Given the description of an element on the screen output the (x, y) to click on. 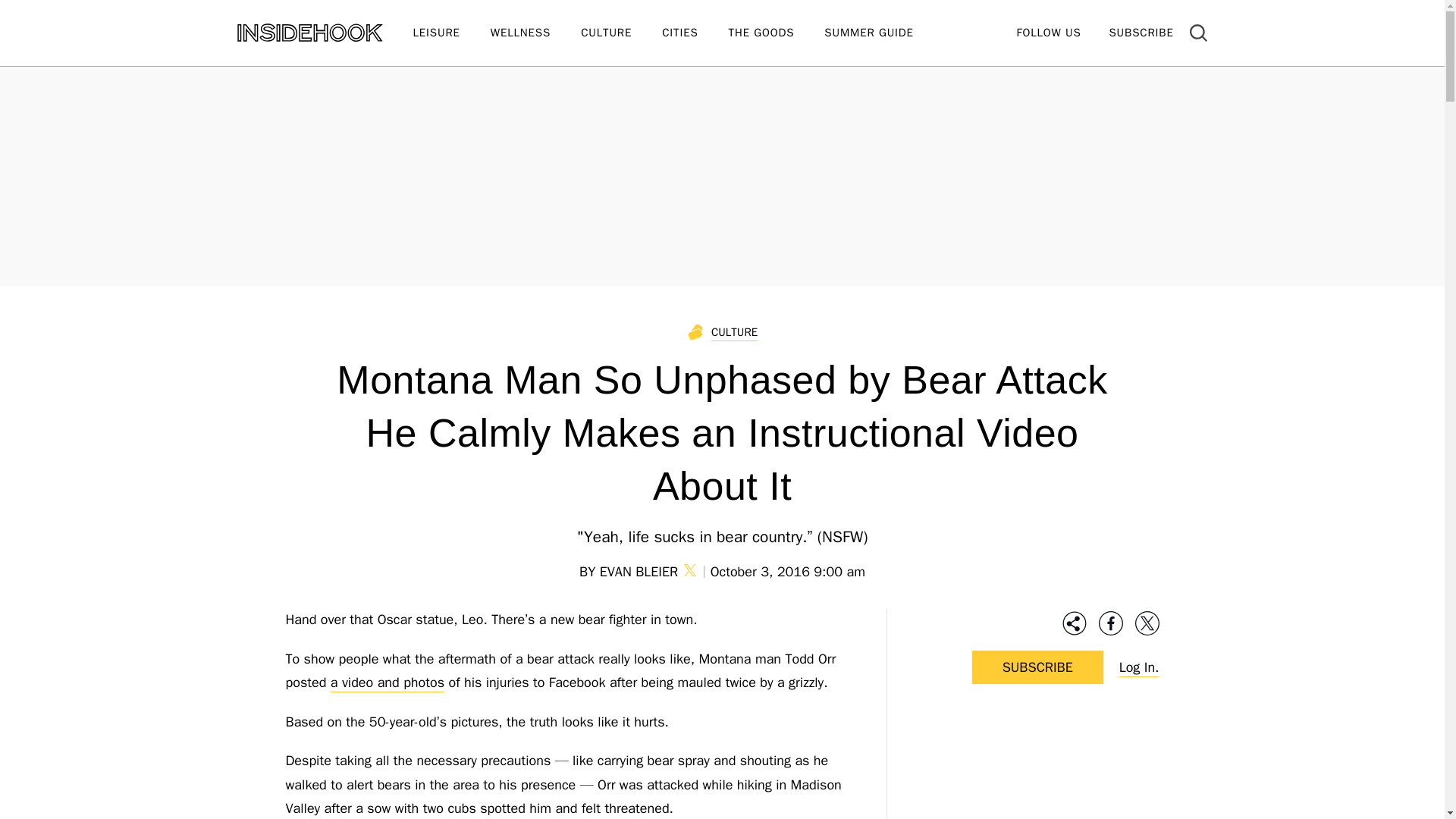
THE GOODS (777, 32)
SUBSCRIBE (1140, 32)
SUMMER GUIDE (883, 32)
CITIES (695, 32)
CULTURE (621, 32)
WELLNESS (535, 32)
LEISURE (450, 32)
FOLLOW US (1048, 32)
